Given the description of an element on the screen output the (x, y) to click on. 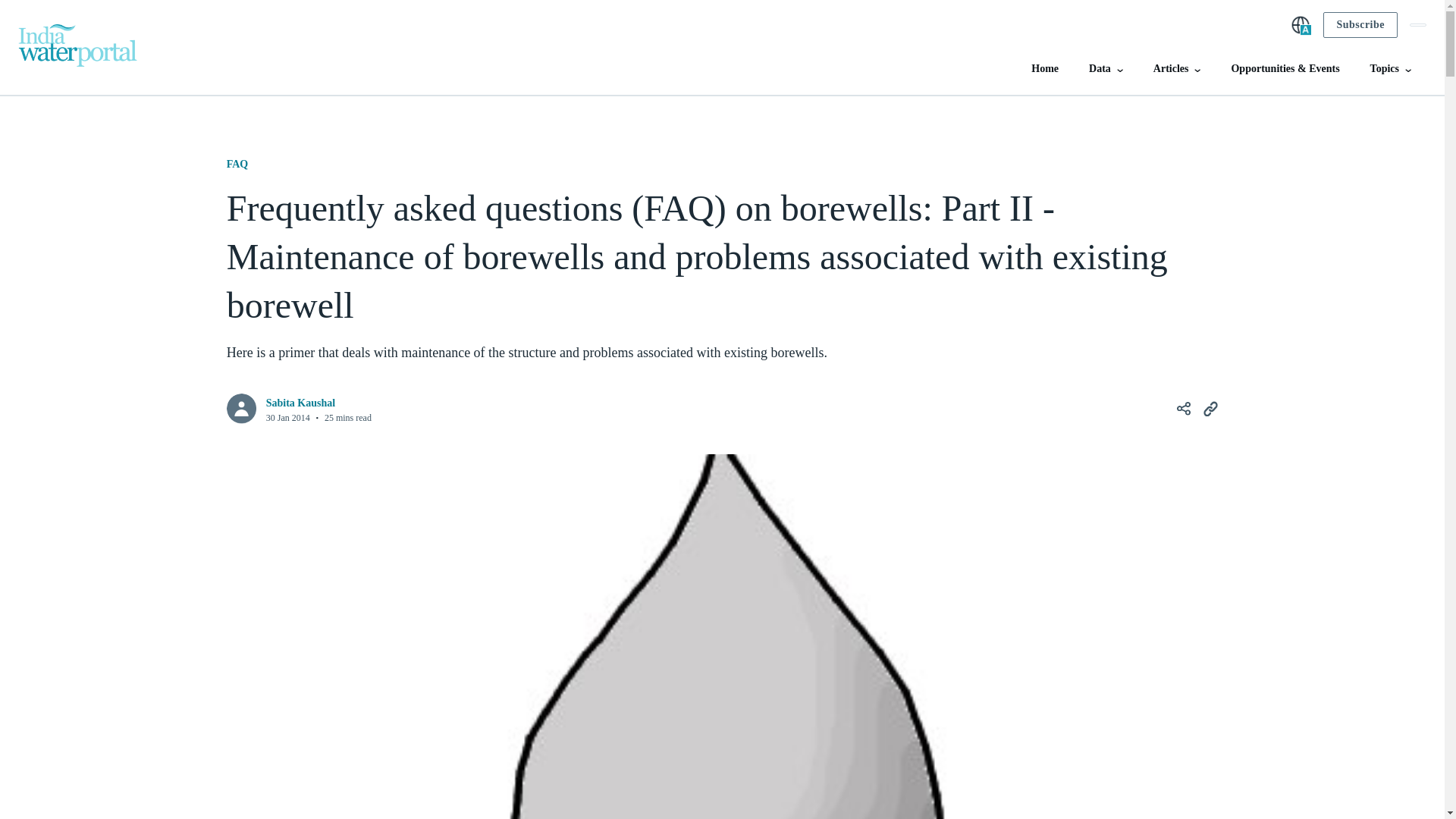
Switch to Hindi (1300, 25)
Topics (1390, 73)
Data (1105, 73)
FAQ (237, 164)
Home (1044, 73)
Articles (1177, 73)
